Given the description of an element on the screen output the (x, y) to click on. 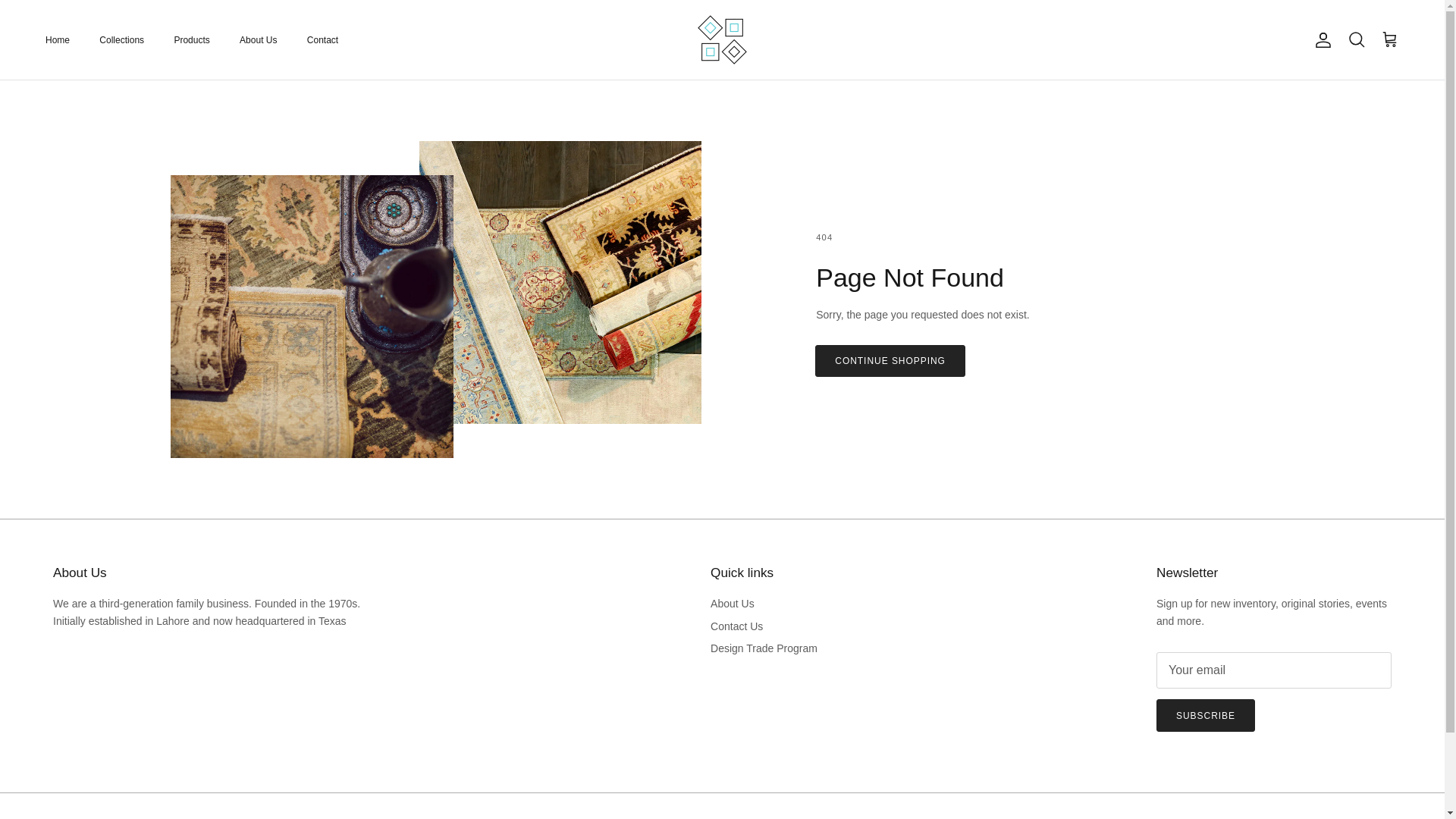
CONTINUE SHOPPING (890, 360)
Asiatics USA (721, 39)
About Us (732, 603)
Home (57, 39)
About Us (257, 39)
Products (191, 39)
Design Trade Program (763, 648)
Contact (323, 39)
SUBSCRIBE (1205, 715)
Contact Us (736, 625)
Search (1356, 39)
Collections (121, 39)
Account (1319, 39)
Cart (1389, 39)
